Given the description of an element on the screen output the (x, y) to click on. 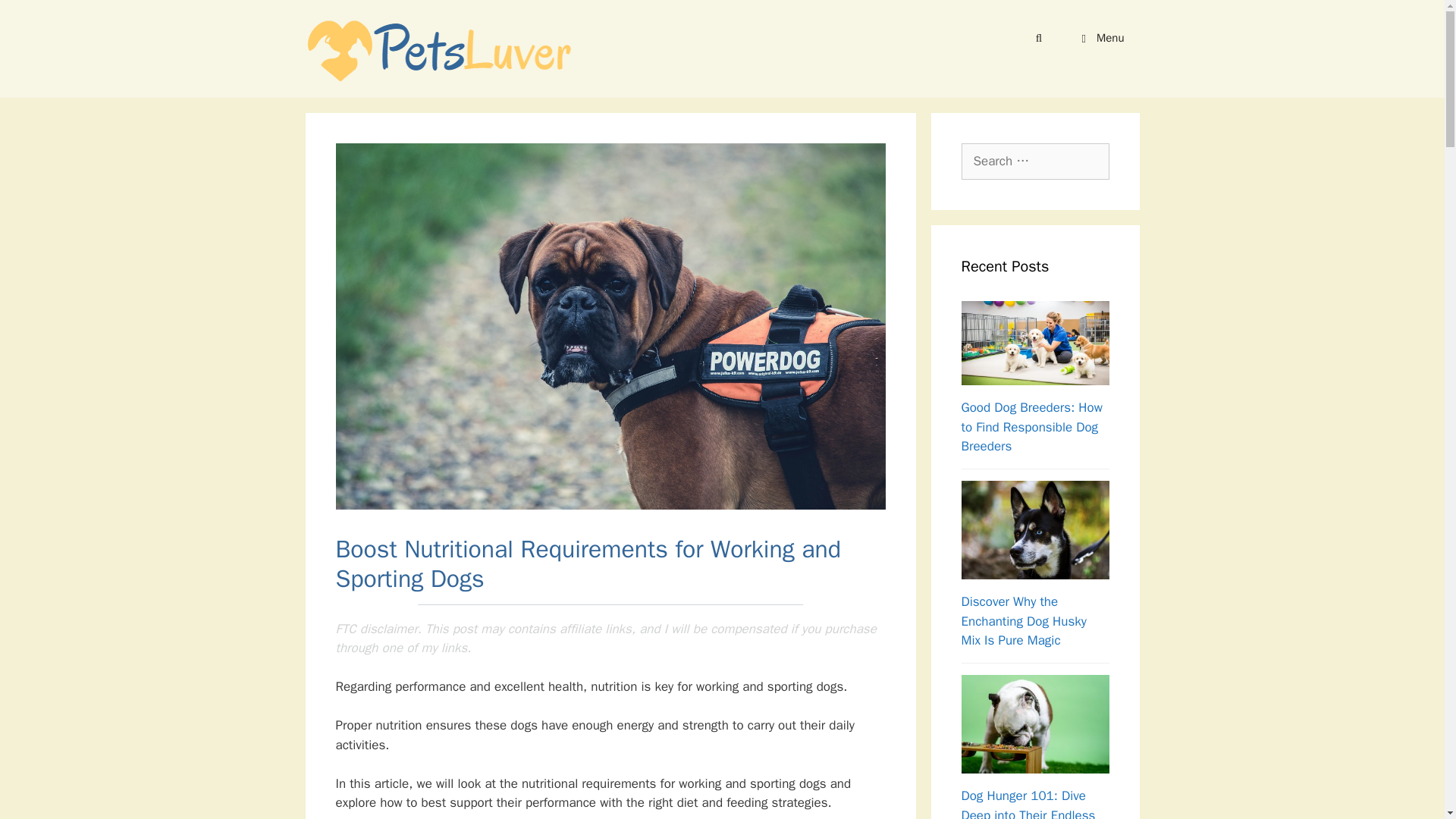
Dog Hunger 101: Dive Deep into Their Endless Appetite (1028, 803)
Menu (1100, 37)
Search (35, 18)
Discover Why the Enchanting Dog Husky Mix Is Pure Magic (1023, 620)
Search for: (1034, 161)
Good Dog Breeders: How to Find Responsible Dog Breeders (1031, 426)
